Given the description of an element on the screen output the (x, y) to click on. 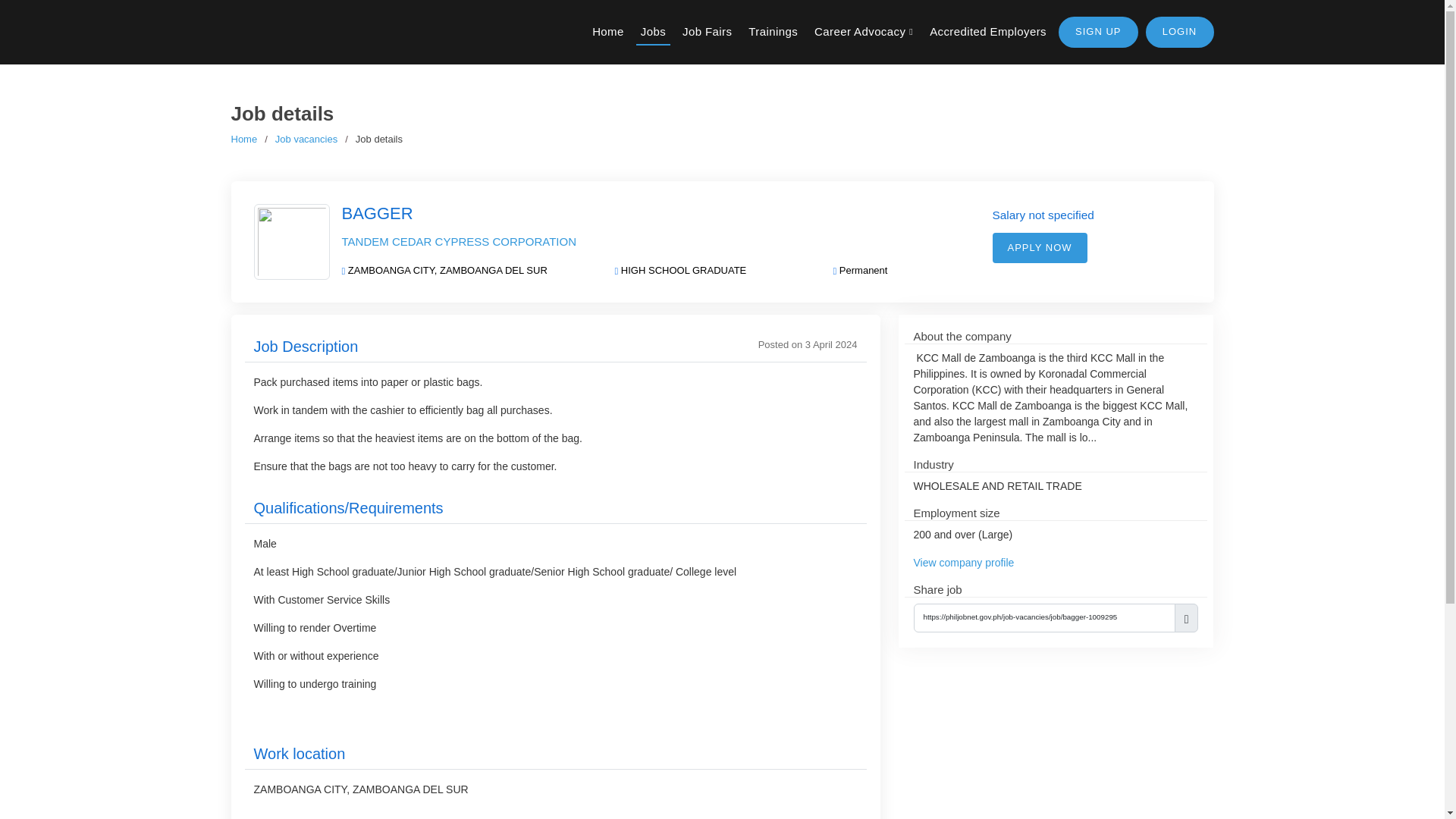
Trainings (773, 39)
LOGIN (1178, 39)
Career Advocacy (863, 39)
APPLY NOW (1038, 247)
Job Fairs (707, 39)
Job Fairs (707, 39)
Accredited Employers (987, 39)
TANDEM CEDAR CYPRESS CORPORATION (457, 241)
Accredited Employers (987, 39)
Job vacancies (306, 138)
Trainings (773, 39)
Home (608, 39)
Home (243, 138)
Home (608, 39)
View company profile (962, 562)
